Given the description of an element on the screen output the (x, y) to click on. 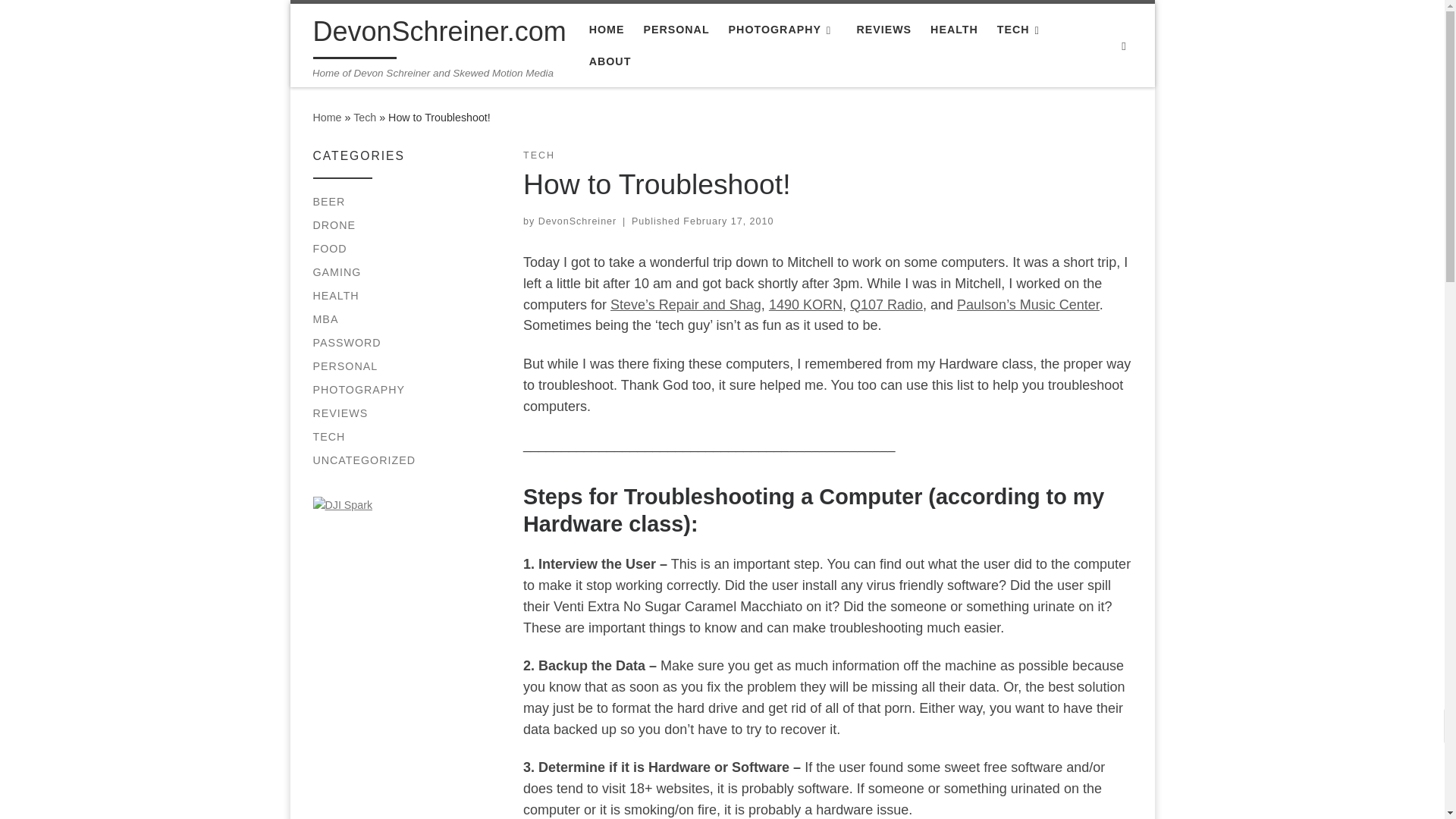
View all posts by DevonSchreiner (577, 221)
DevonSchreiner (577, 221)
February 17, 2010 (727, 221)
Skip to content (60, 20)
PHOTOGRAPHY (782, 29)
Home (326, 117)
PERSONAL (676, 29)
HEALTH (954, 29)
Tech (364, 117)
Tech (364, 117)
